Given the description of an element on the screen output the (x, y) to click on. 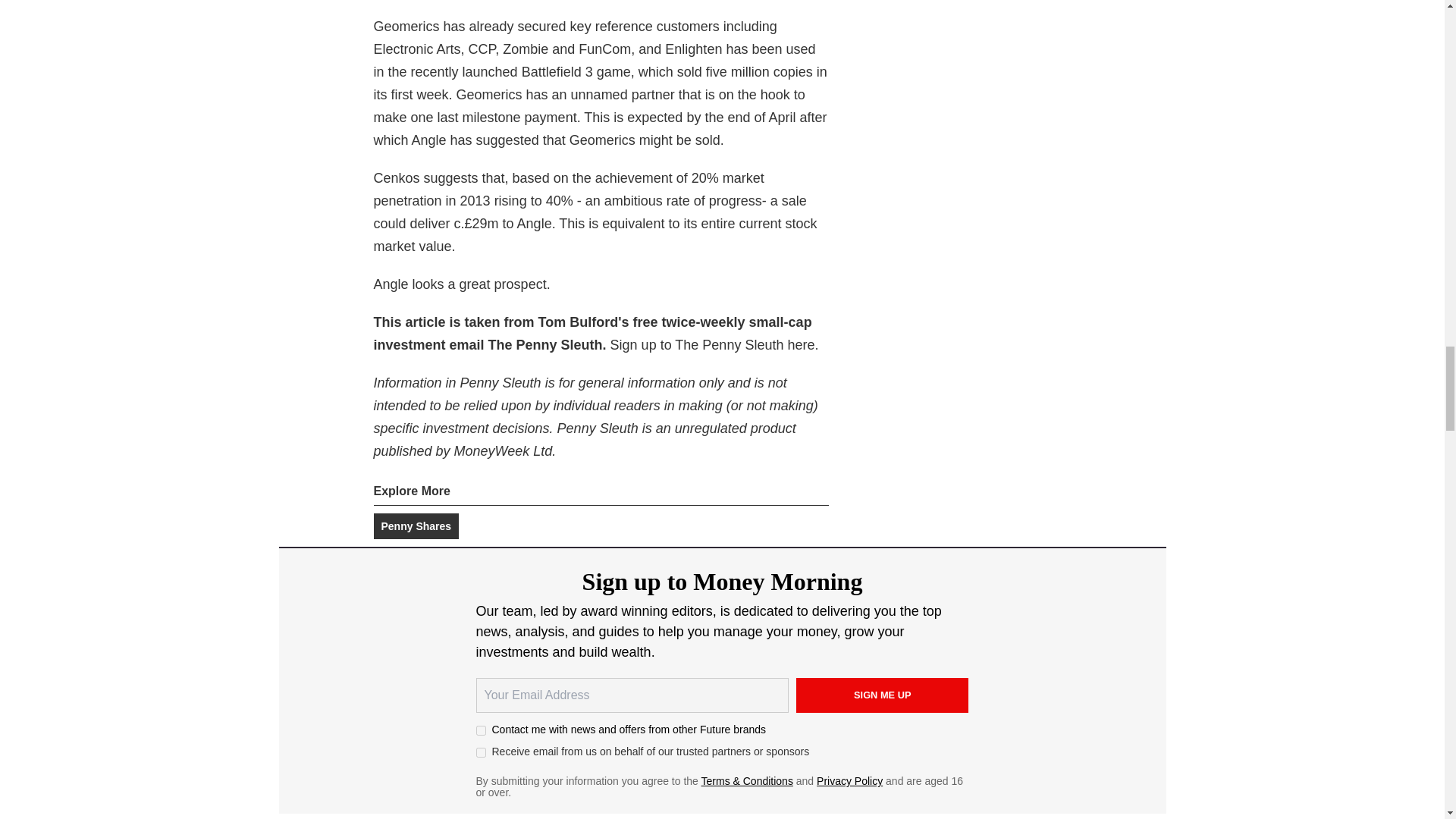
Sign me up (882, 695)
on (481, 752)
on (481, 730)
